Given the description of an element on the screen output the (x, y) to click on. 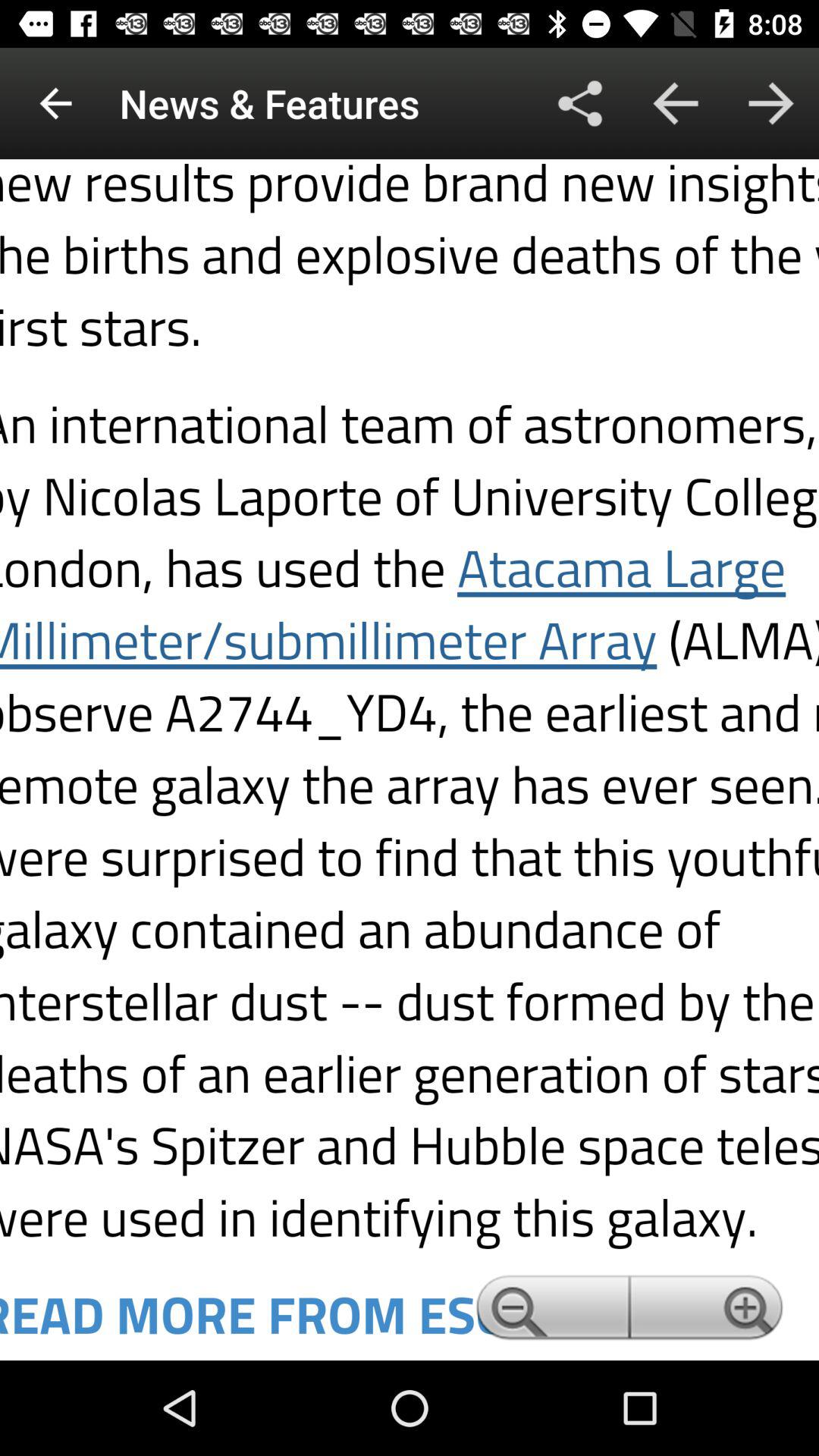
link button (409, 759)
